Given the description of an element on the screen output the (x, y) to click on. 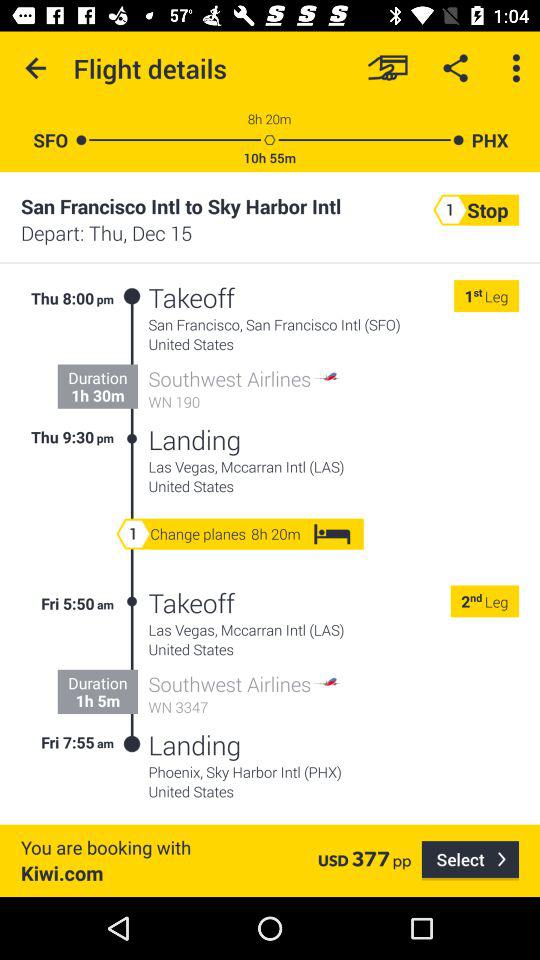
make payment (387, 67)
